Given the description of an element on the screen output the (x, y) to click on. 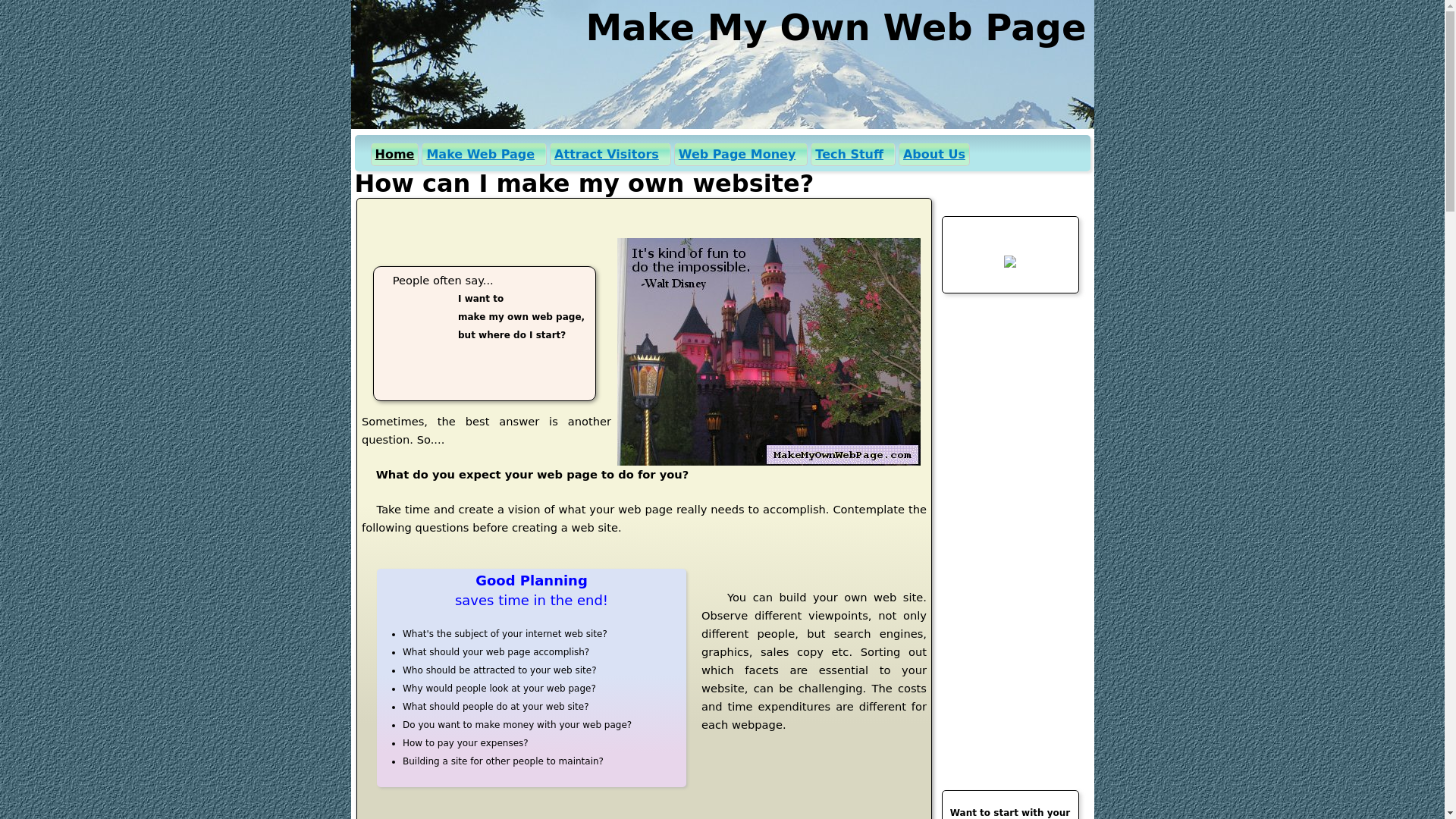
Home (836, 26)
Make Web Page (484, 154)
Make My Own Web Page (836, 26)
Attracting Visitors to your Web Site (609, 154)
Home (395, 154)
It's kind of fun doing the impossible (768, 352)
Attract Visitors (609, 154)
Steps to make my own web page (484, 154)
